Given the description of an element on the screen output the (x, y) to click on. 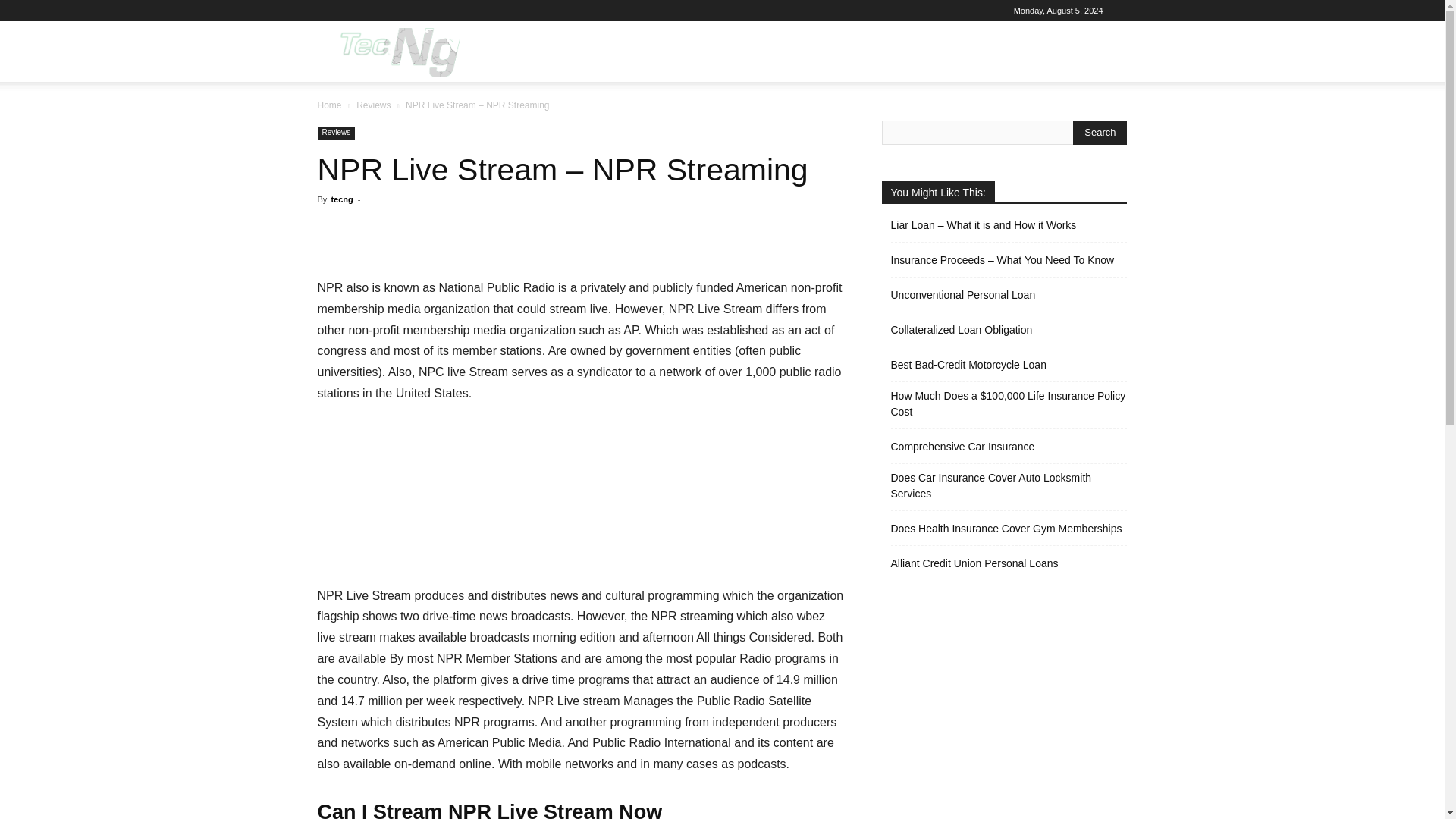
INSURANCE (887, 51)
LOANS (695, 51)
Home (328, 104)
tecng (341, 198)
Reviews (373, 104)
SCHOLARSHIP (978, 51)
REVIEWS (809, 51)
Reviews (336, 132)
View all posts in Reviews (373, 104)
Search (1085, 124)
TecNg (398, 51)
Search (1099, 132)
